Given the description of an element on the screen output the (x, y) to click on. 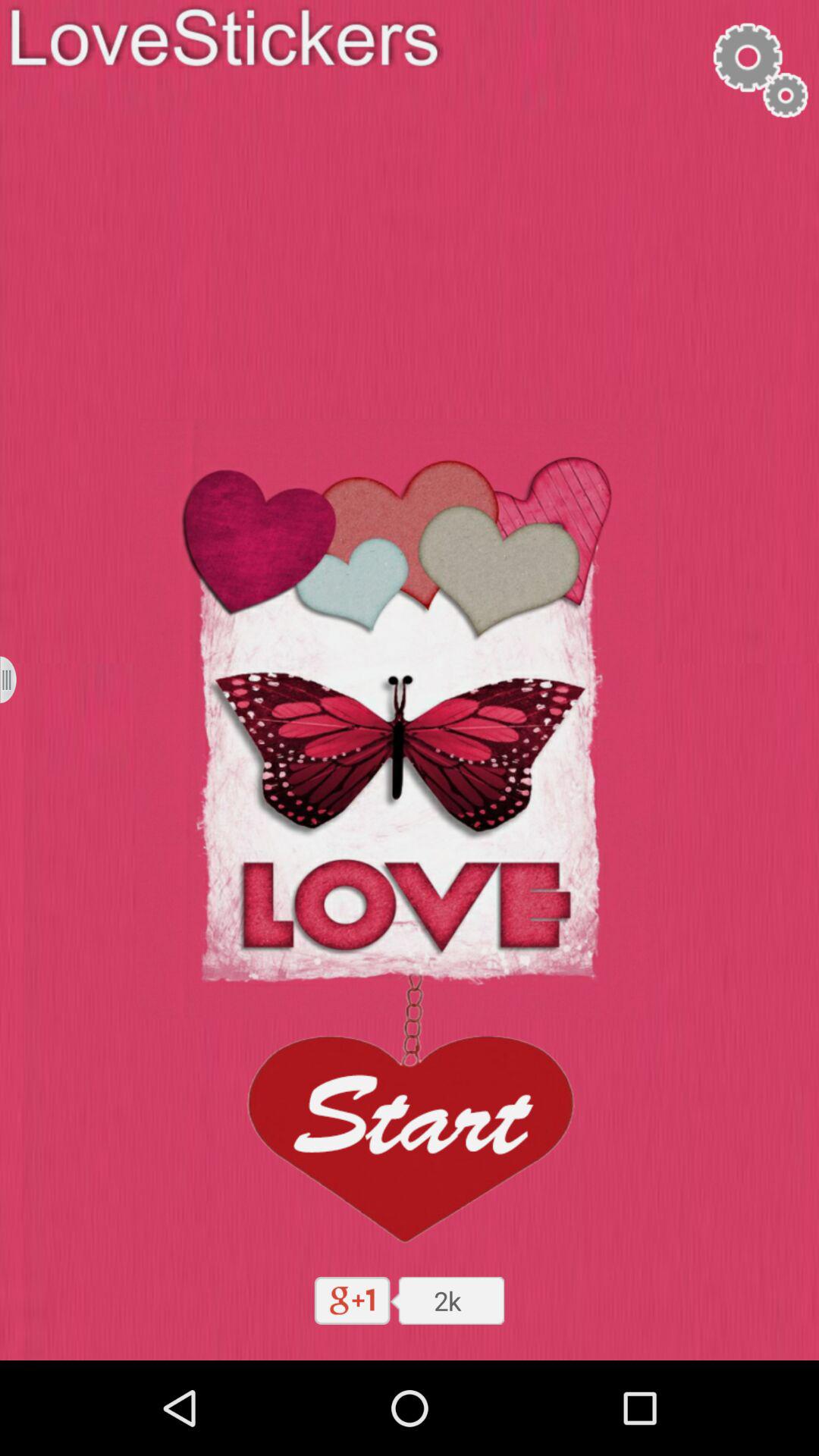
love stickers (18, 679)
